Given the description of an element on the screen output the (x, y) to click on. 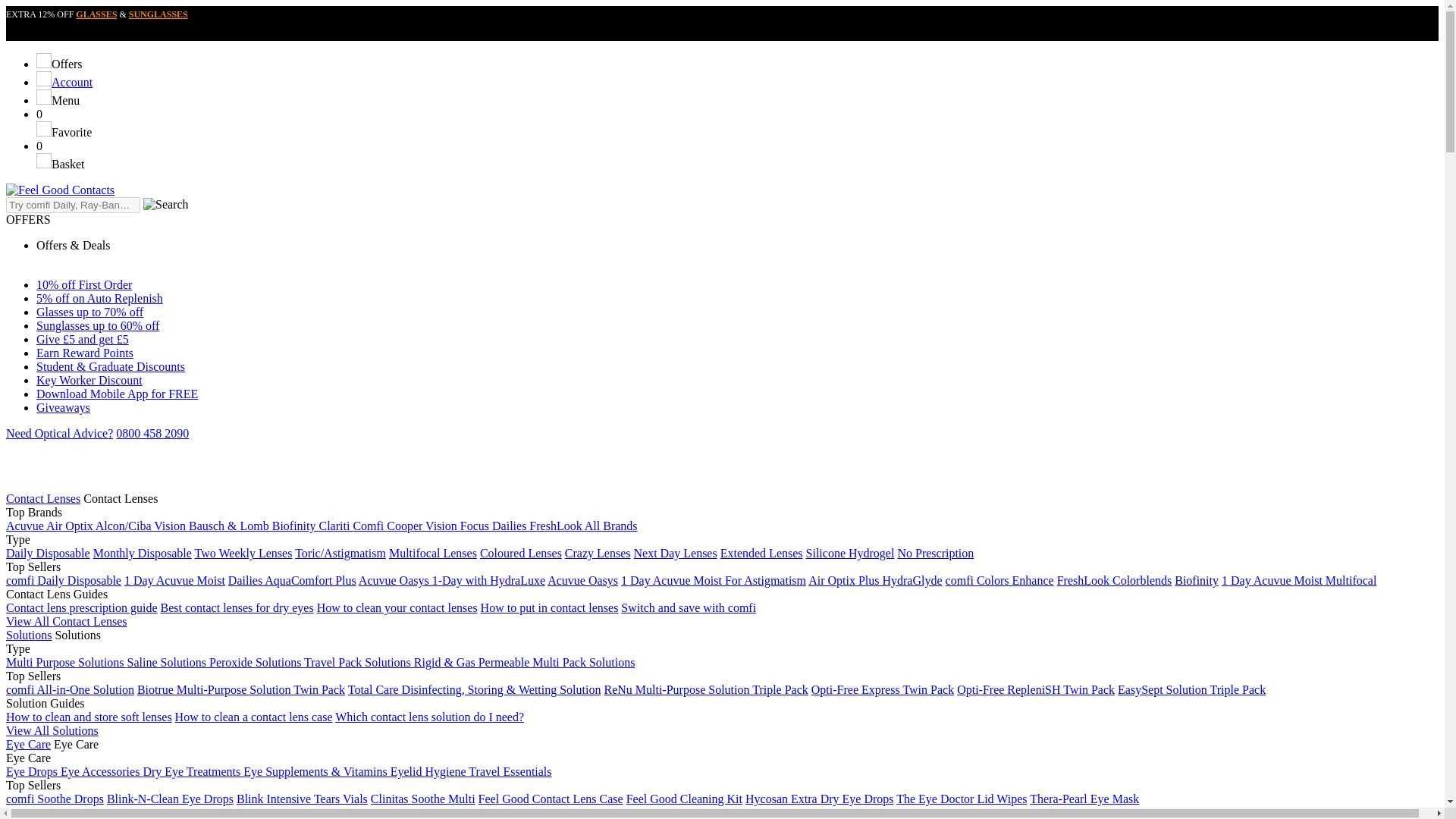
Clariti (335, 525)
Comfi (369, 525)
Need Optical Advice? (59, 432)
FreshLook (556, 525)
Clariti (335, 525)
Feel Good Contacts (60, 189)
Multifocal Lenses (432, 553)
Giveaways (63, 407)
Cooper Vision (423, 525)
Acuvue (25, 525)
0800 458 2090 (152, 432)
FreshLook (556, 525)
Download Mobile App for FREE (117, 393)
Biofinity (295, 525)
Daily Disposable (47, 553)
